Given the description of an element on the screen output the (x, y) to click on. 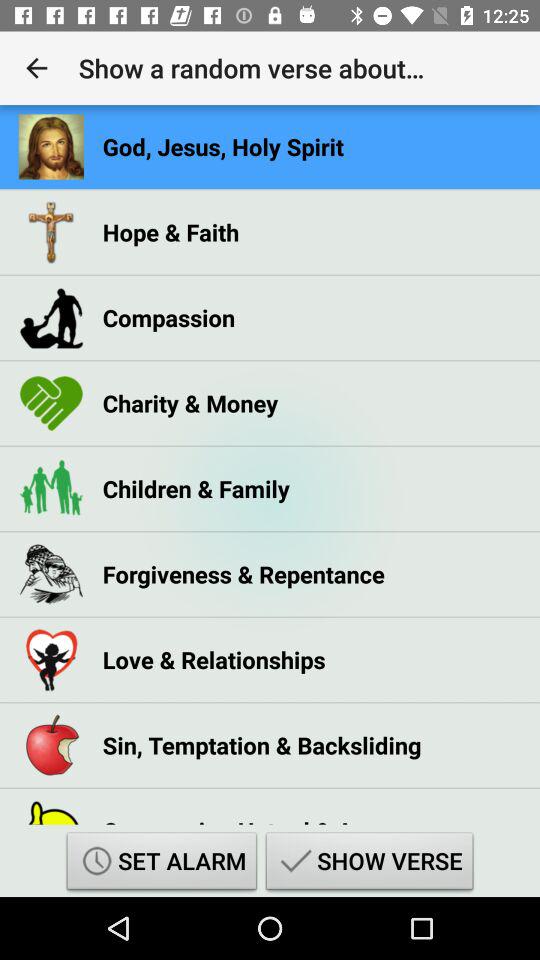
swipe until forgiveness & repentance icon (243, 573)
